Given the description of an element on the screen output the (x, y) to click on. 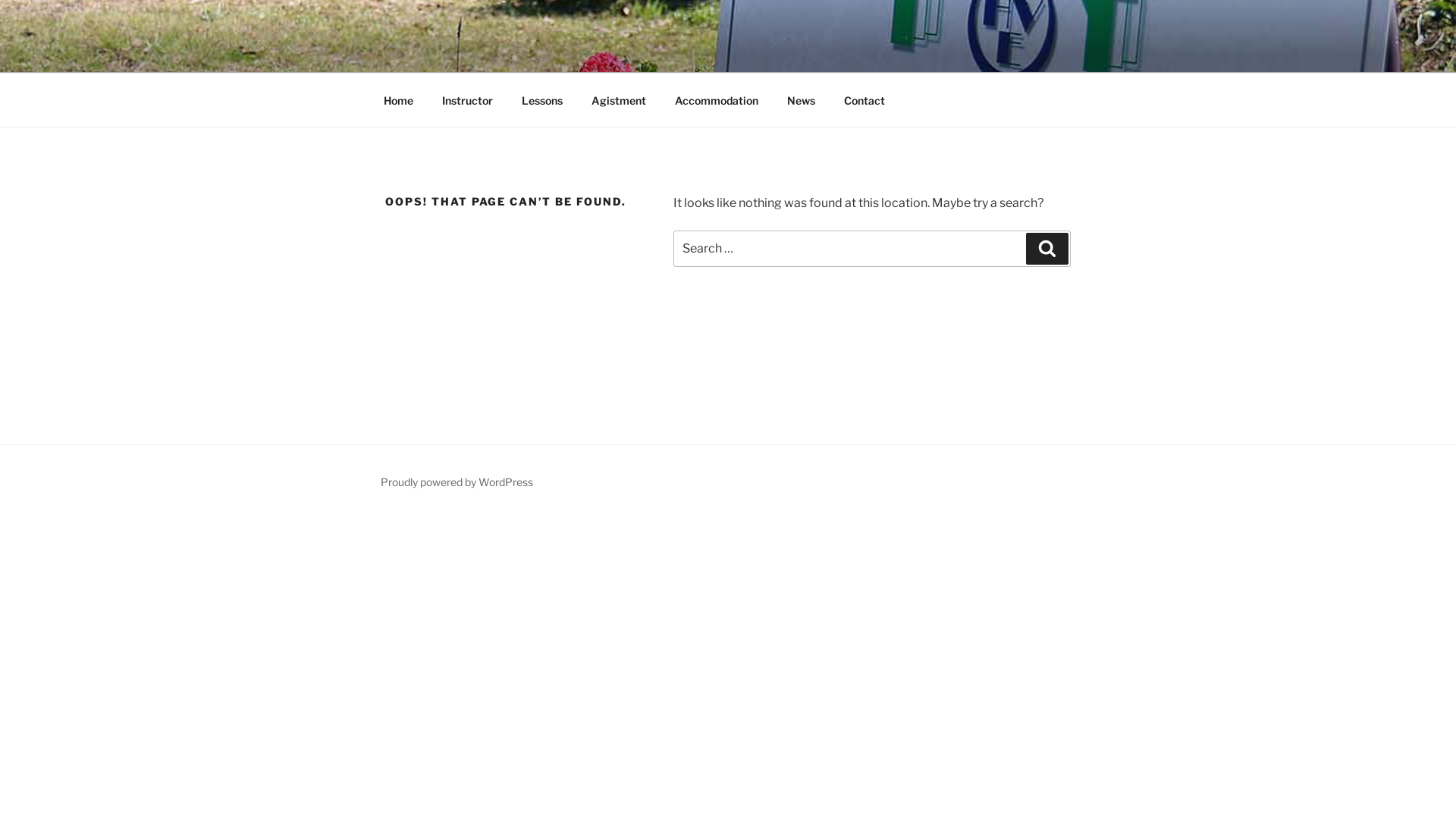
HUNTER VALLEY EQUESTRIAN CENTRE Element type: text (691, 52)
Contact Element type: text (863, 100)
Accommodation Element type: text (716, 100)
Search Element type: text (1047, 248)
Instructor Element type: text (466, 100)
Lessons Element type: text (541, 100)
Proudly powered by WordPress Element type: text (456, 481)
Agistment Element type: text (617, 100)
Home Element type: text (398, 100)
News Element type: text (800, 100)
